Given the description of an element on the screen output the (x, y) to click on. 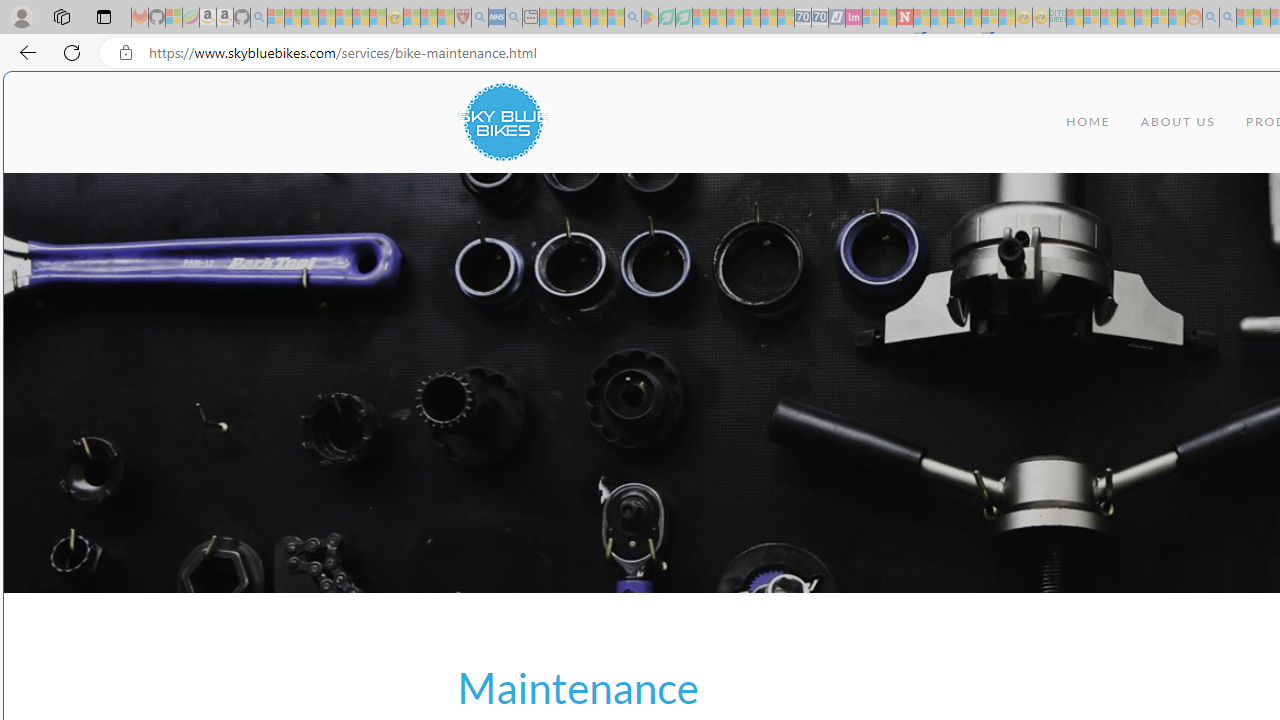
Latest Politics News & Archive | Newsweek.com - Sleeping (904, 17)
ABOUT US (1178, 122)
Bluey: Let's Play! - Apps on Google Play - Sleeping (649, 17)
Terms of Use Agreement - Sleeping (666, 17)
